Given the description of an element on the screen output the (x, y) to click on. 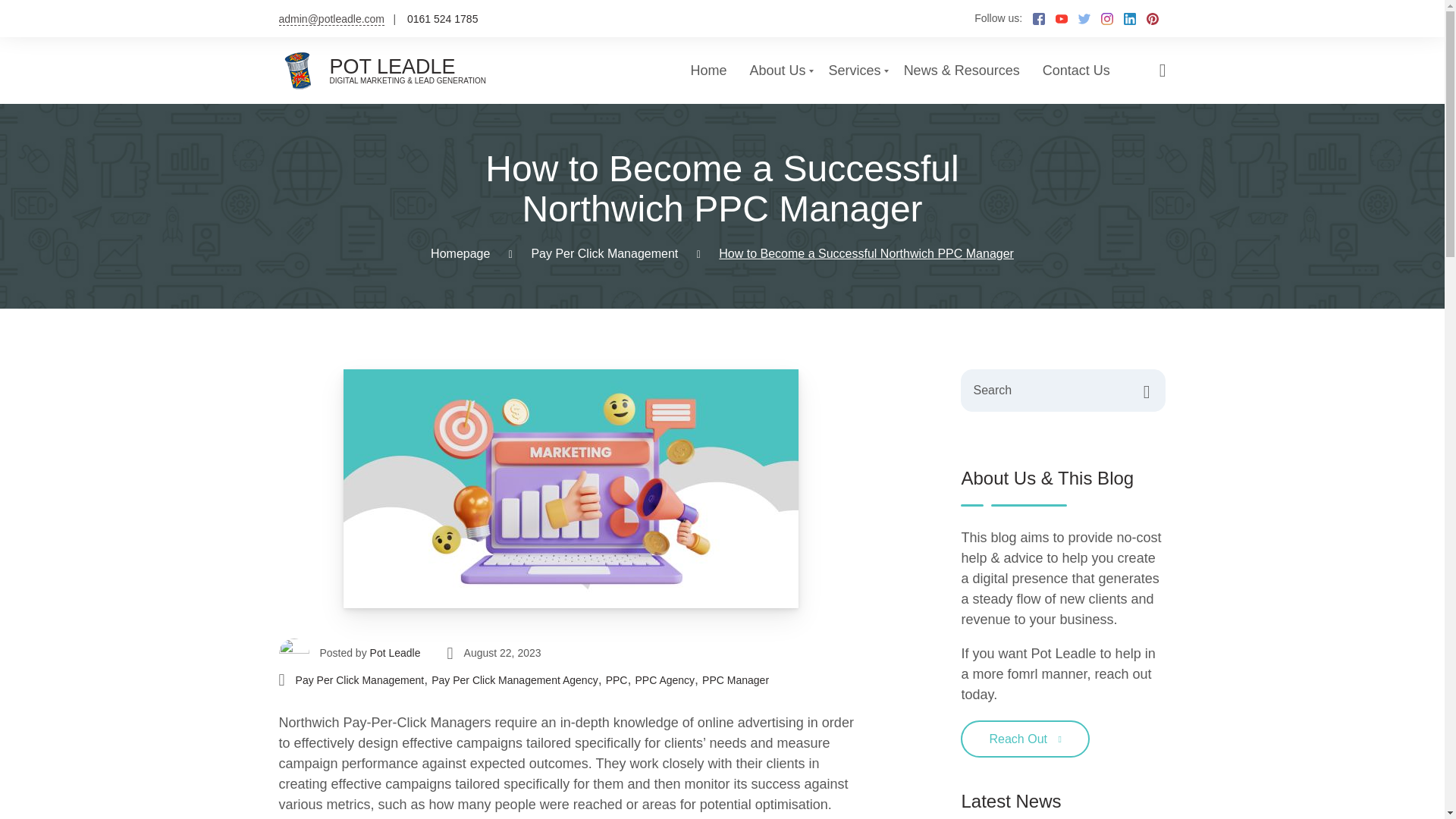
Homepage (459, 253)
Pot Leadle (394, 652)
About Us (777, 69)
PPC Manager (734, 680)
Pay Per Click Management Agency (513, 680)
Pay Per Click Management (604, 253)
Contact Us (1075, 69)
Services (854, 69)
PPC (616, 680)
Home (708, 69)
Pot Leadle (394, 652)
PPC Agency (664, 680)
Pay Per Click Management (360, 680)
